Given the description of an element on the screen output the (x, y) to click on. 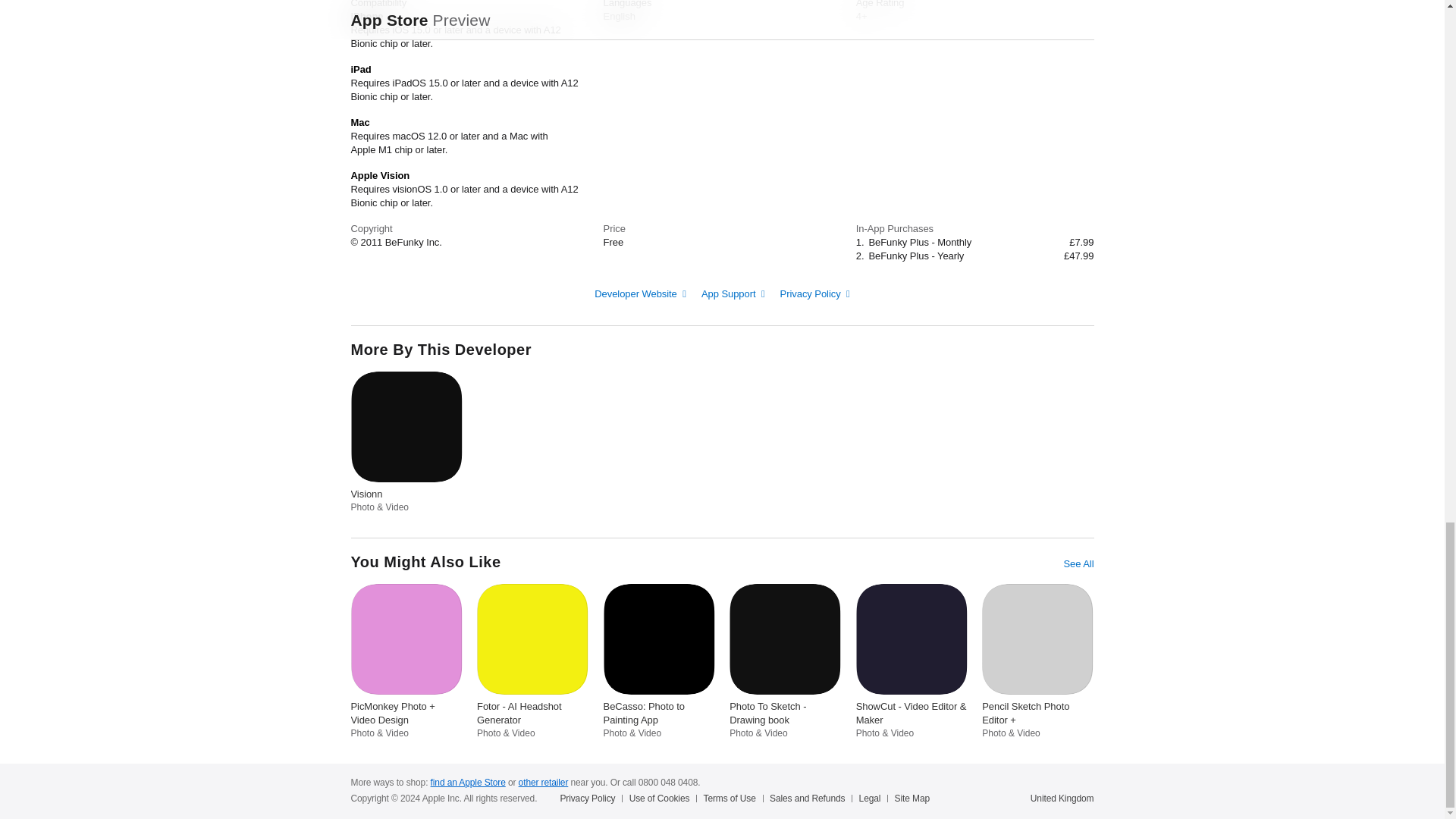
See All (1077, 563)
App Support (733, 293)
Privacy Policy (815, 293)
Developer Website (639, 293)
Choose your country or region (1062, 797)
